Given the description of an element on the screen output the (x, y) to click on. 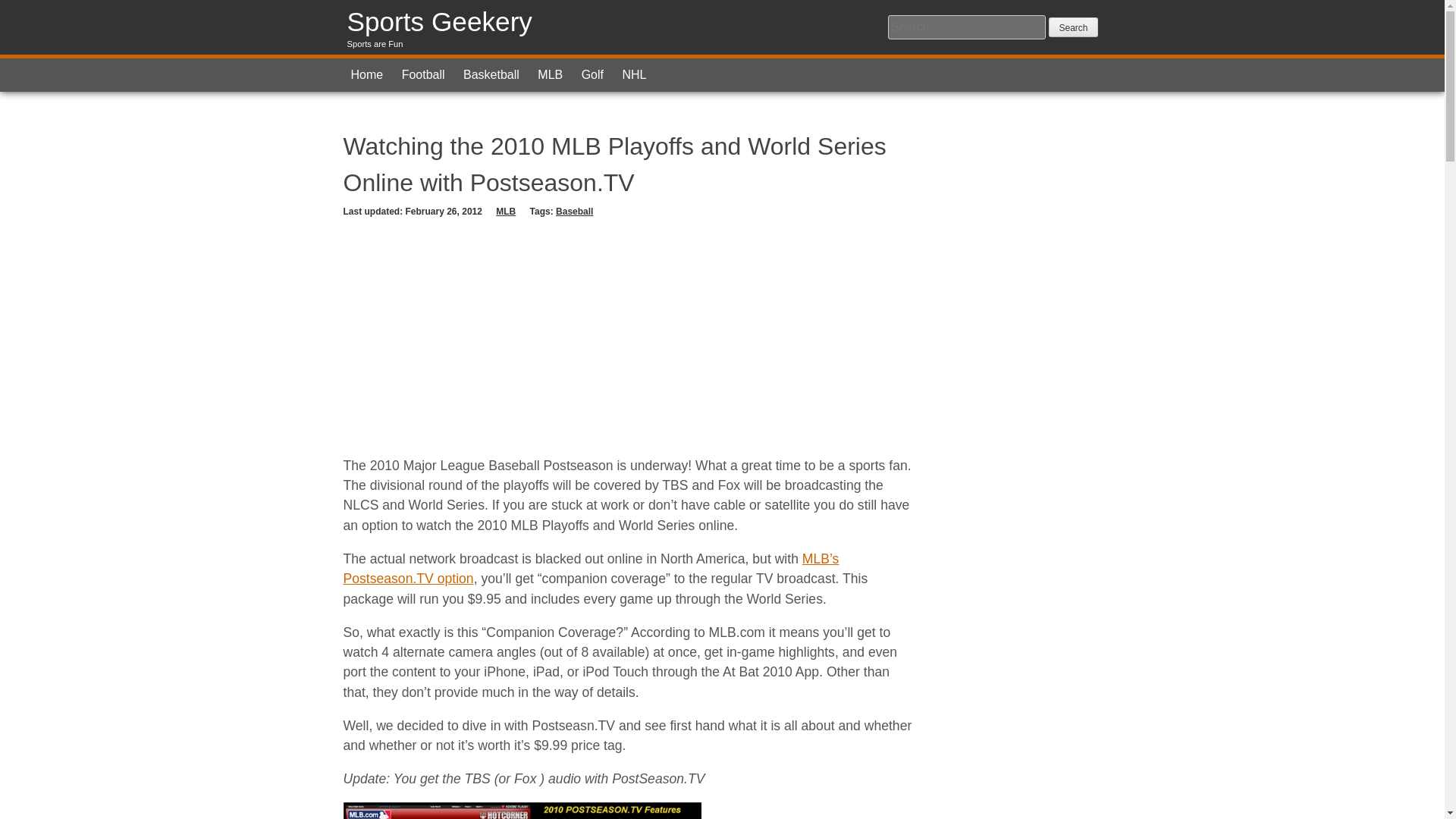
NHL (633, 74)
Golf (592, 74)
Football (423, 74)
postseason-tv-1 (521, 810)
Home (366, 74)
Search (1072, 26)
MLB (549, 74)
Search (1072, 26)
MLB (505, 211)
